Given the description of an element on the screen output the (x, y) to click on. 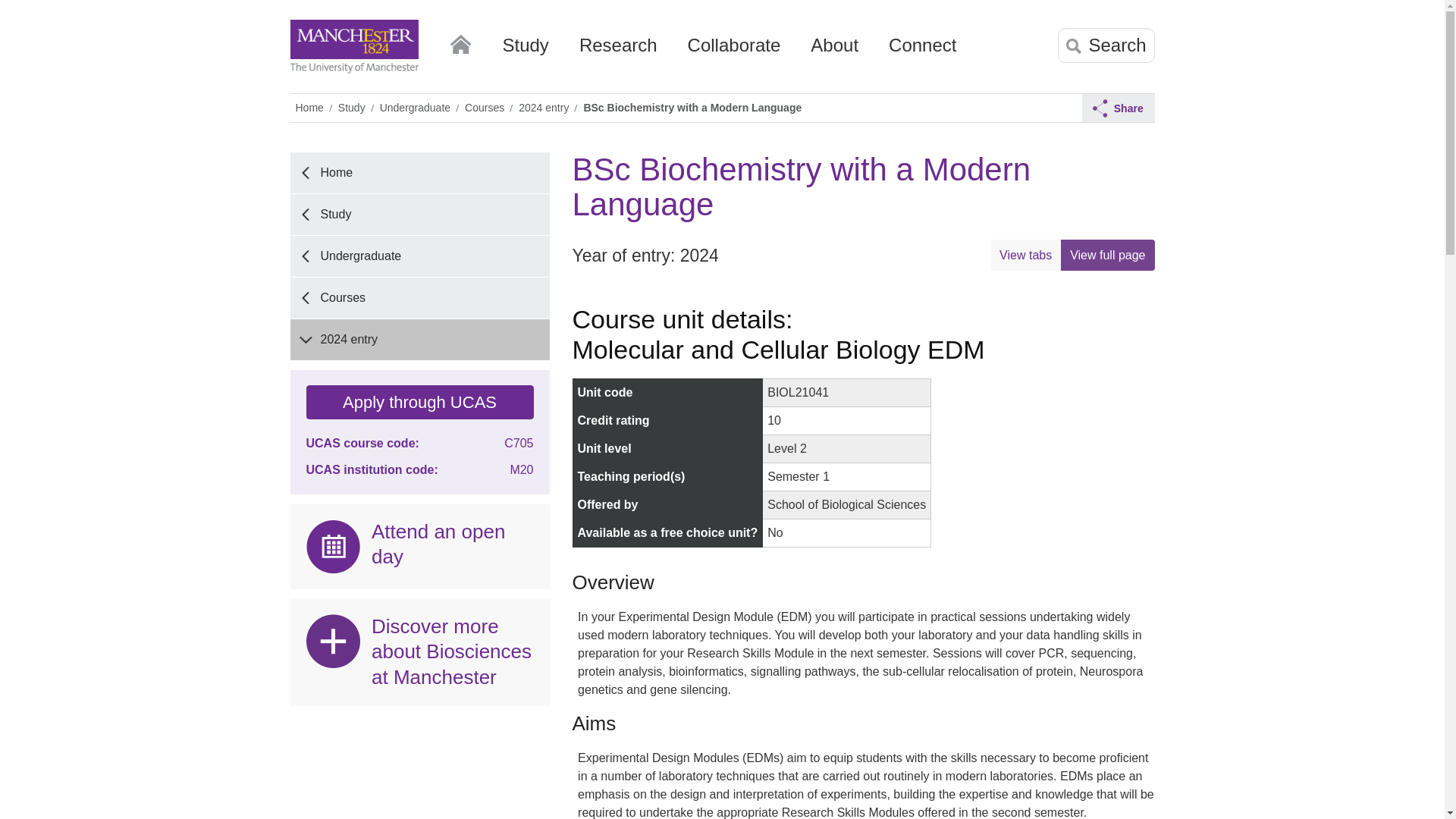
Study (524, 50)
Home (459, 41)
Research at the University (618, 50)
